Given the description of an element on the screen output the (x, y) to click on. 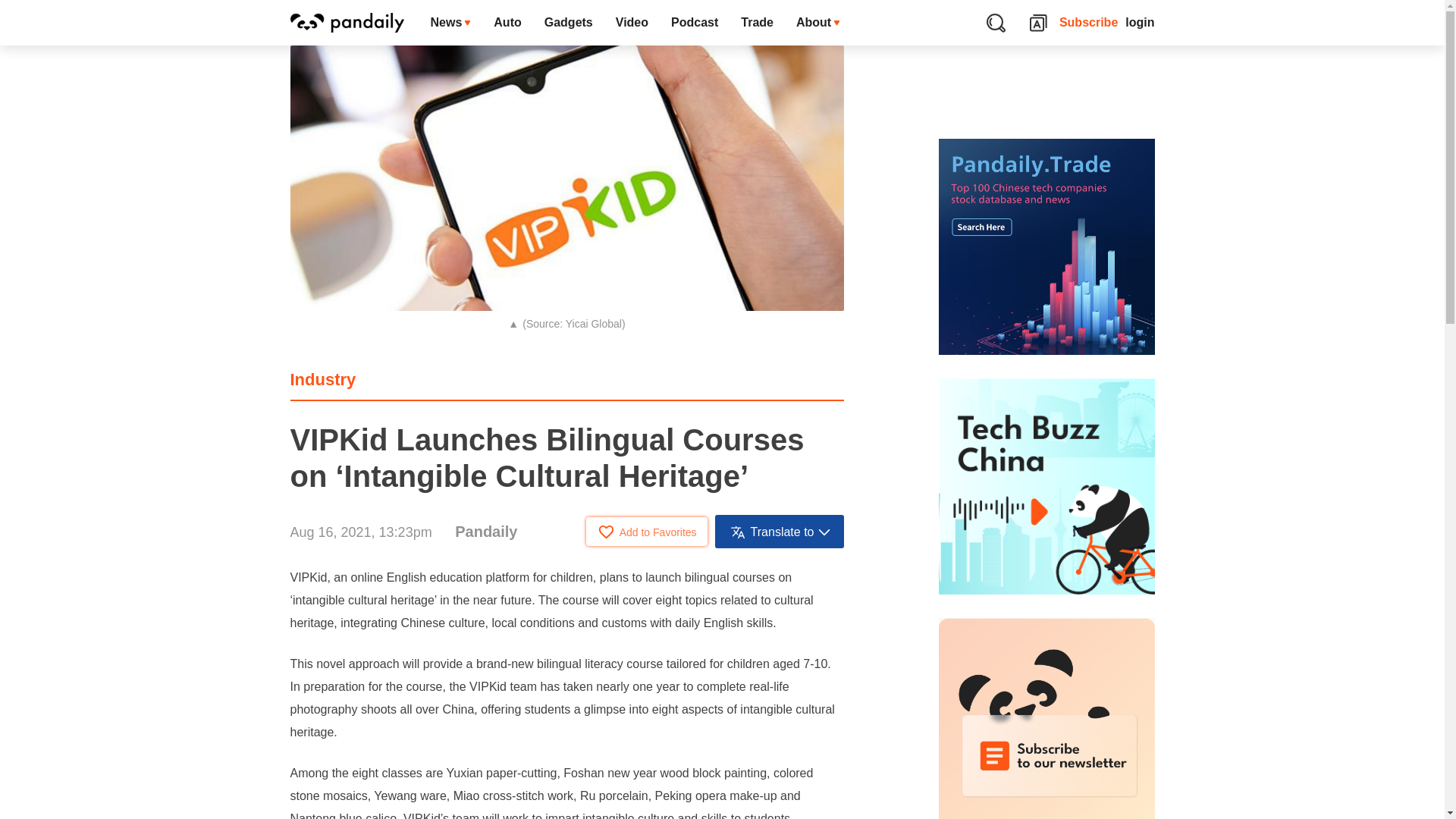
Industry (322, 379)
Aug 16, 2021, 13:23pm (359, 531)
Trade (756, 22)
Add to Favorites (646, 531)
News (450, 22)
Subscribe (1088, 22)
Podcast (694, 22)
login (1139, 22)
Video (631, 22)
Translate to (779, 531)
Auto (506, 22)
About (817, 22)
Pandaily (485, 531)
Gadgets (568, 22)
